Given the description of an element on the screen output the (x, y) to click on. 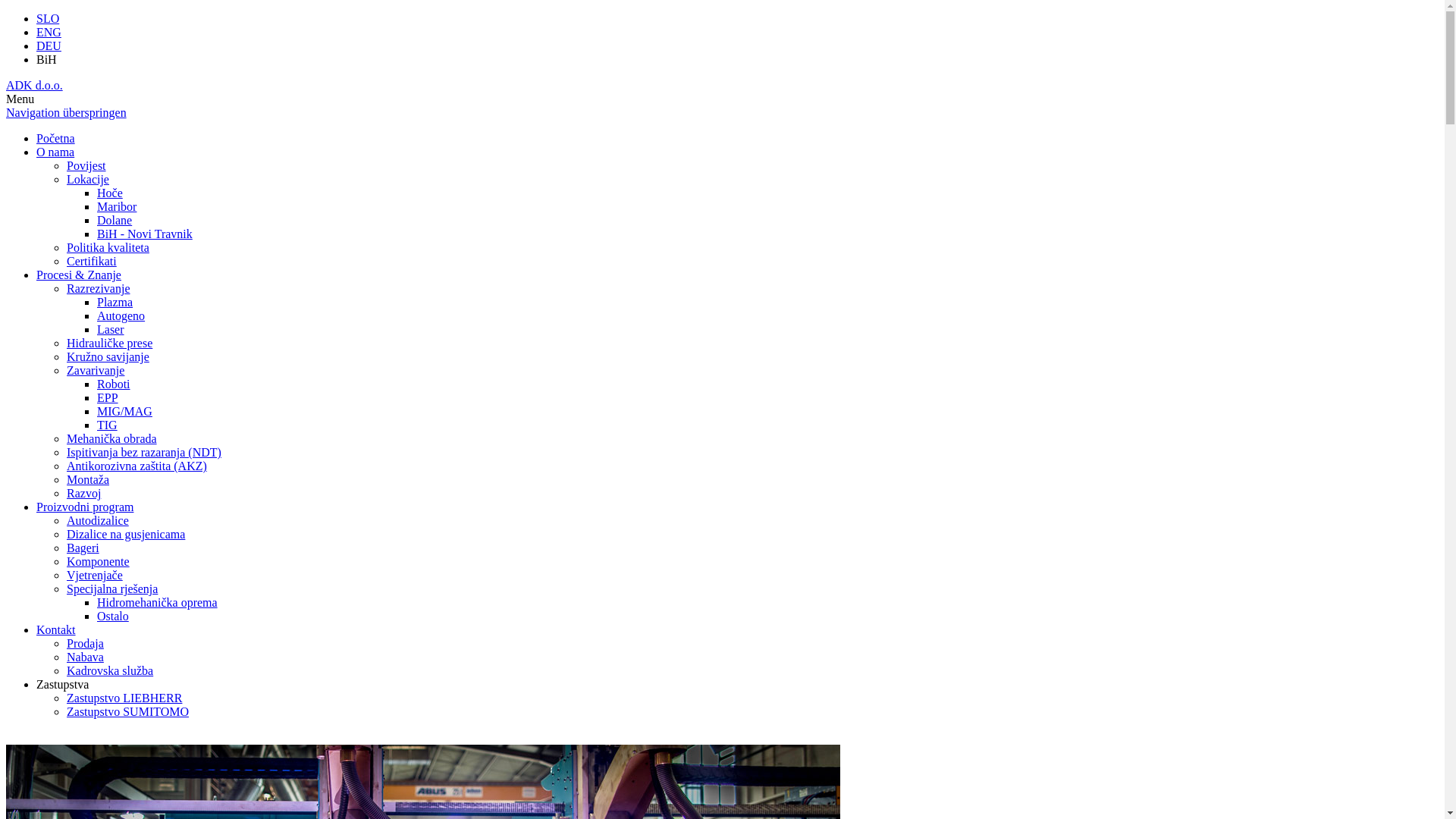
Proizvodni program Element type: text (84, 506)
Bageri Element type: text (82, 547)
MIG/MAG Element type: text (124, 410)
Dizalice na gusjenicama Element type: text (125, 533)
O nama Element type: text (55, 151)
BiH - Novi Travnik Element type: text (144, 233)
Maribor Element type: text (116, 206)
Razrezivanje Element type: text (98, 288)
Zavarivanje Element type: text (95, 370)
Roboti Element type: text (113, 383)
EPP Element type: text (107, 397)
Autodizalice Element type: text (97, 520)
Zastupstva Element type: text (62, 683)
Prodaja Element type: text (84, 643)
ADK d.o.o. Element type: text (34, 84)
Povijest Element type: text (86, 165)
  Element type: text (7, 737)
Dolane Element type: text (114, 219)
Politika kvaliteta Element type: text (107, 247)
ENG Element type: text (48, 31)
Kontakt Element type: text (55, 629)
Razvoj Element type: text (83, 492)
Zastupstvo LIEBHERR Element type: text (124, 697)
Autogeno Element type: text (120, 315)
SLO Element type: text (47, 18)
Certifikati Element type: text (91, 260)
Plazma Element type: text (114, 301)
DEU Element type: text (48, 45)
Ostalo Element type: text (112, 615)
Zastupstvo SUMITOMO Element type: text (127, 711)
Ispitivanja bez razaranja (NDT) Element type: text (143, 451)
Komponente Element type: text (97, 561)
Procesi & Znanje Element type: text (78, 274)
Lokacije Element type: text (87, 178)
Laser Element type: text (110, 329)
Nabava Element type: text (84, 656)
TIG Element type: text (107, 424)
